Given the description of an element on the screen output the (x, y) to click on. 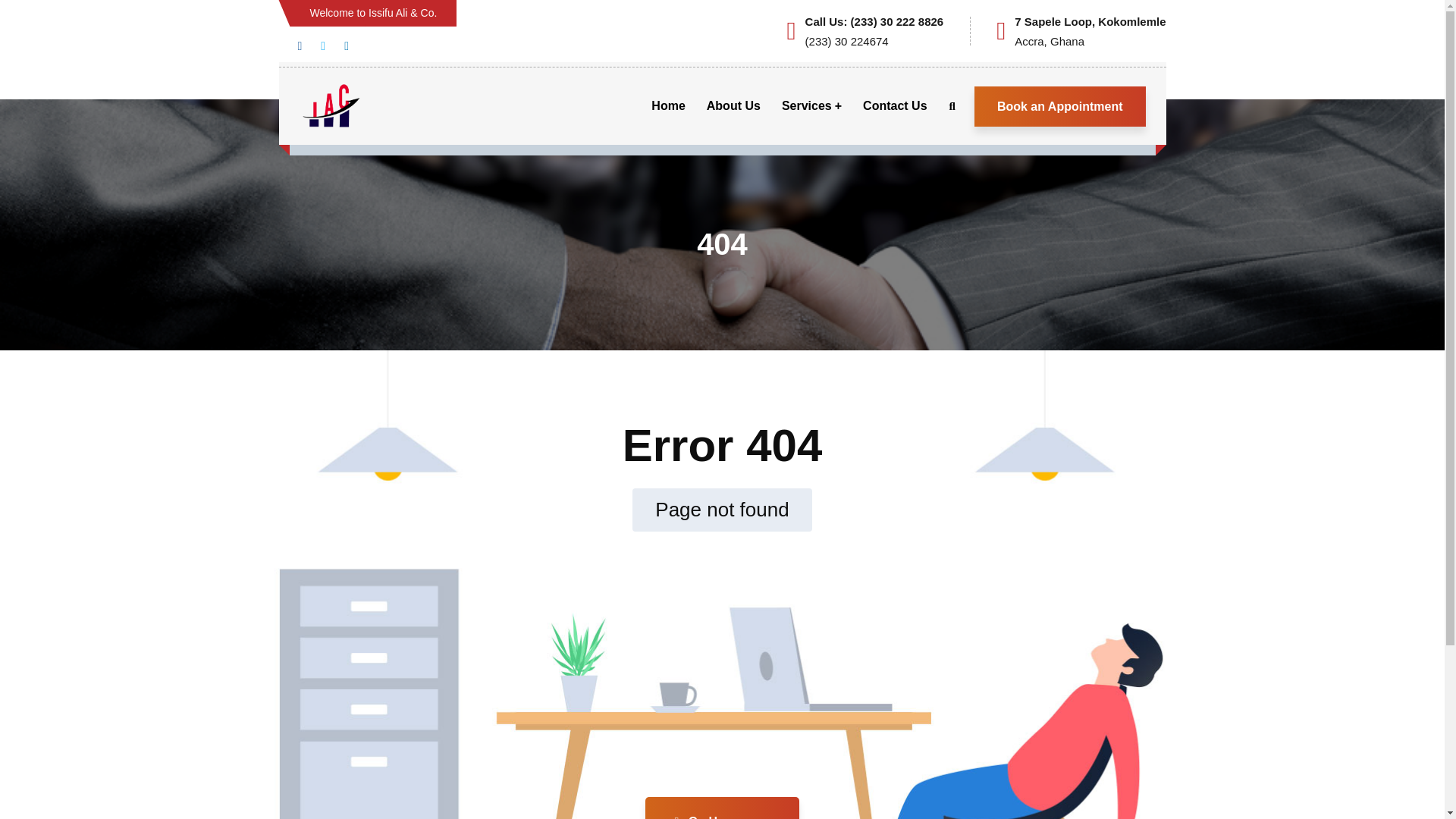
Subscribe (888, 660)
Teamjaketech (774, 783)
Go Home now (722, 807)
About us (387, 673)
Book an Appointment (1059, 106)
